Given the description of an element on the screen output the (x, y) to click on. 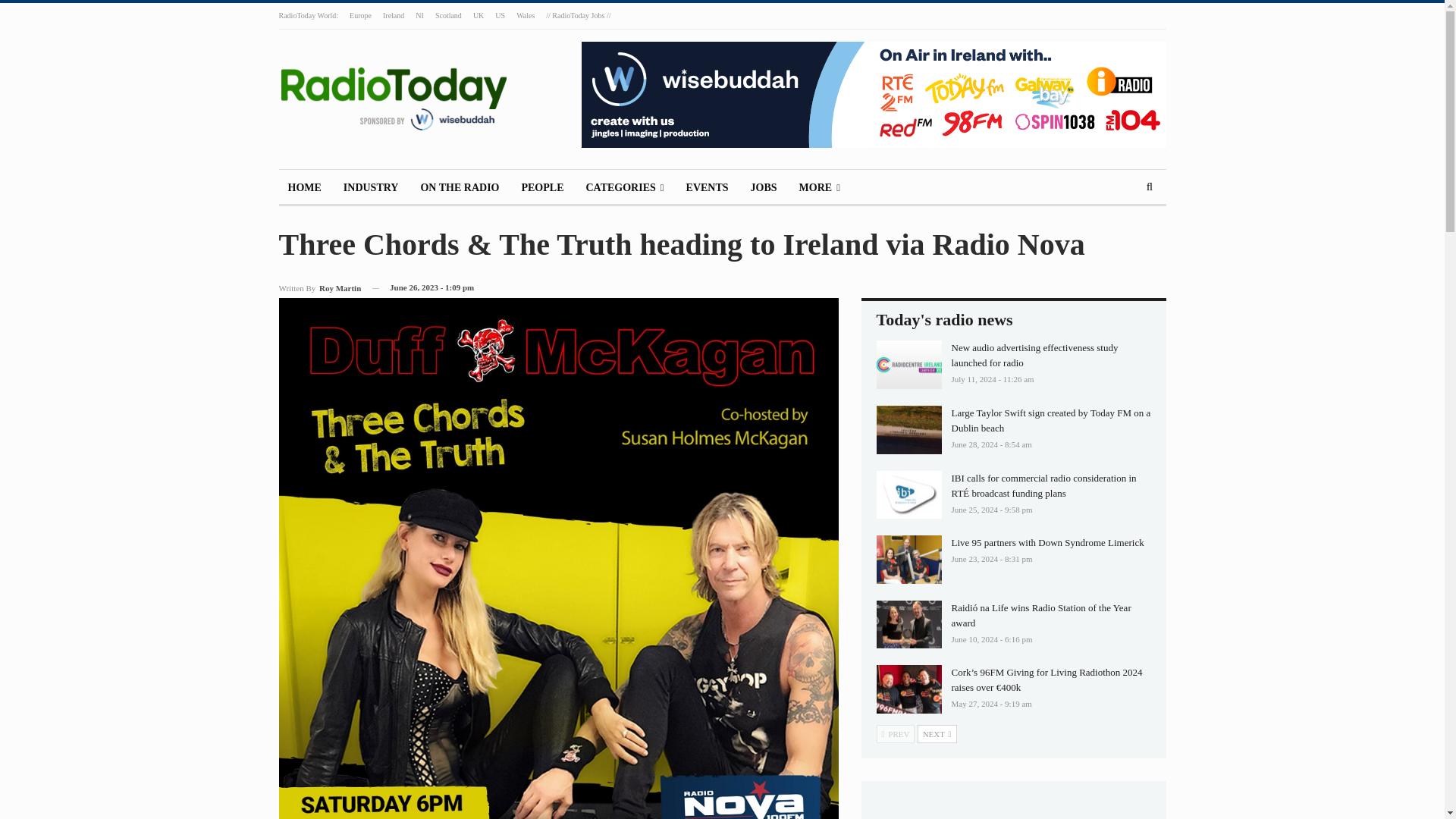
MORE (819, 187)
CATEGORIES (624, 187)
Browse Author Articles (320, 287)
ON THE RADIO (459, 187)
Written By Roy Martin (320, 287)
HOME (304, 187)
Europe (360, 15)
PEOPLE (542, 187)
Ireland (393, 15)
JOBS (763, 187)
Scotland (448, 15)
RadioToday World: (309, 15)
NI (418, 15)
EVENTS (707, 187)
INDUSTRY (370, 187)
